Given the description of an element on the screen output the (x, y) to click on. 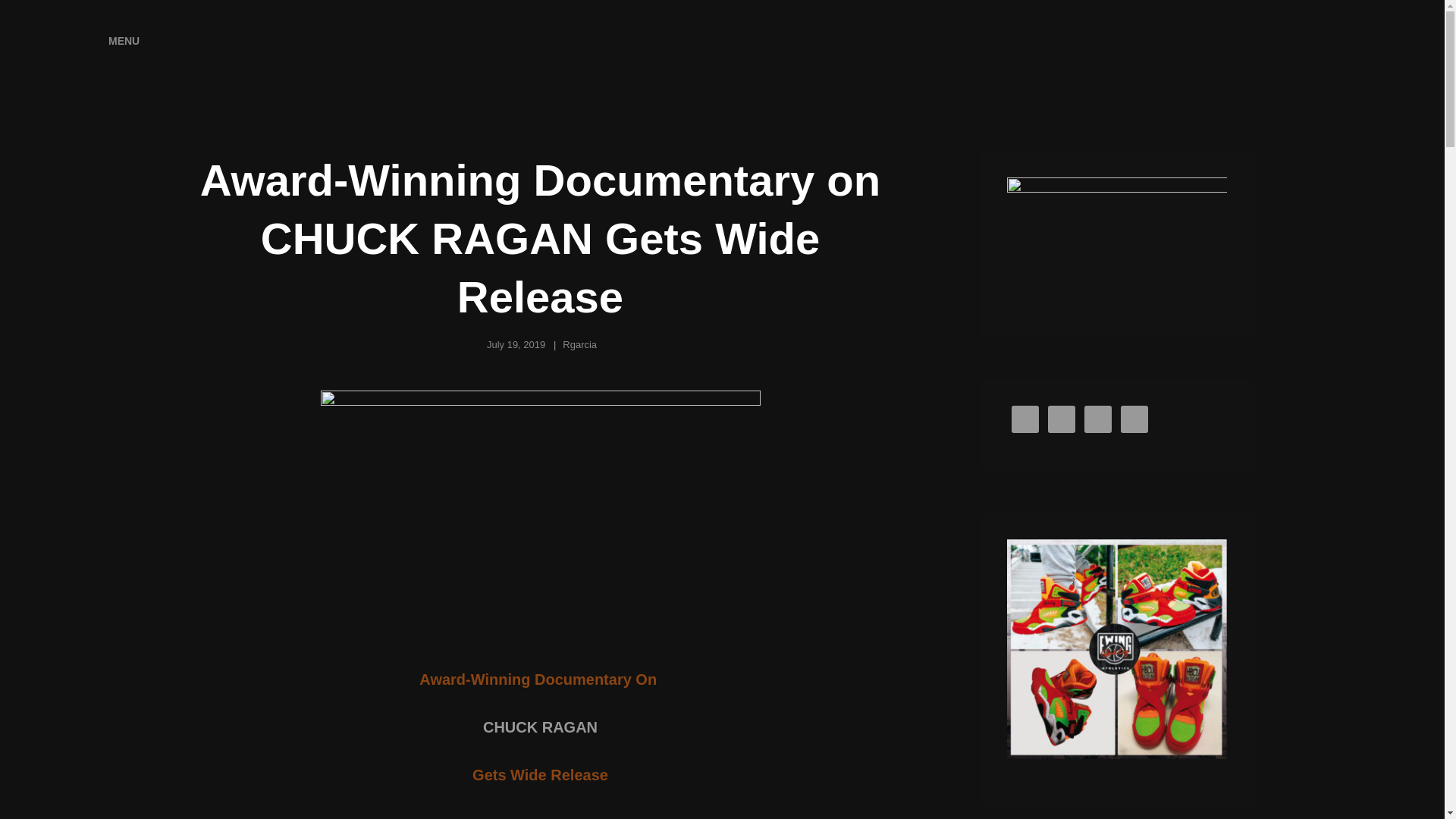
Rgarcia (579, 344)
Search (1354, 40)
rev (1117, 648)
MENU (109, 41)
July 19, 2019 (515, 344)
